Given the description of an element on the screen output the (x, y) to click on. 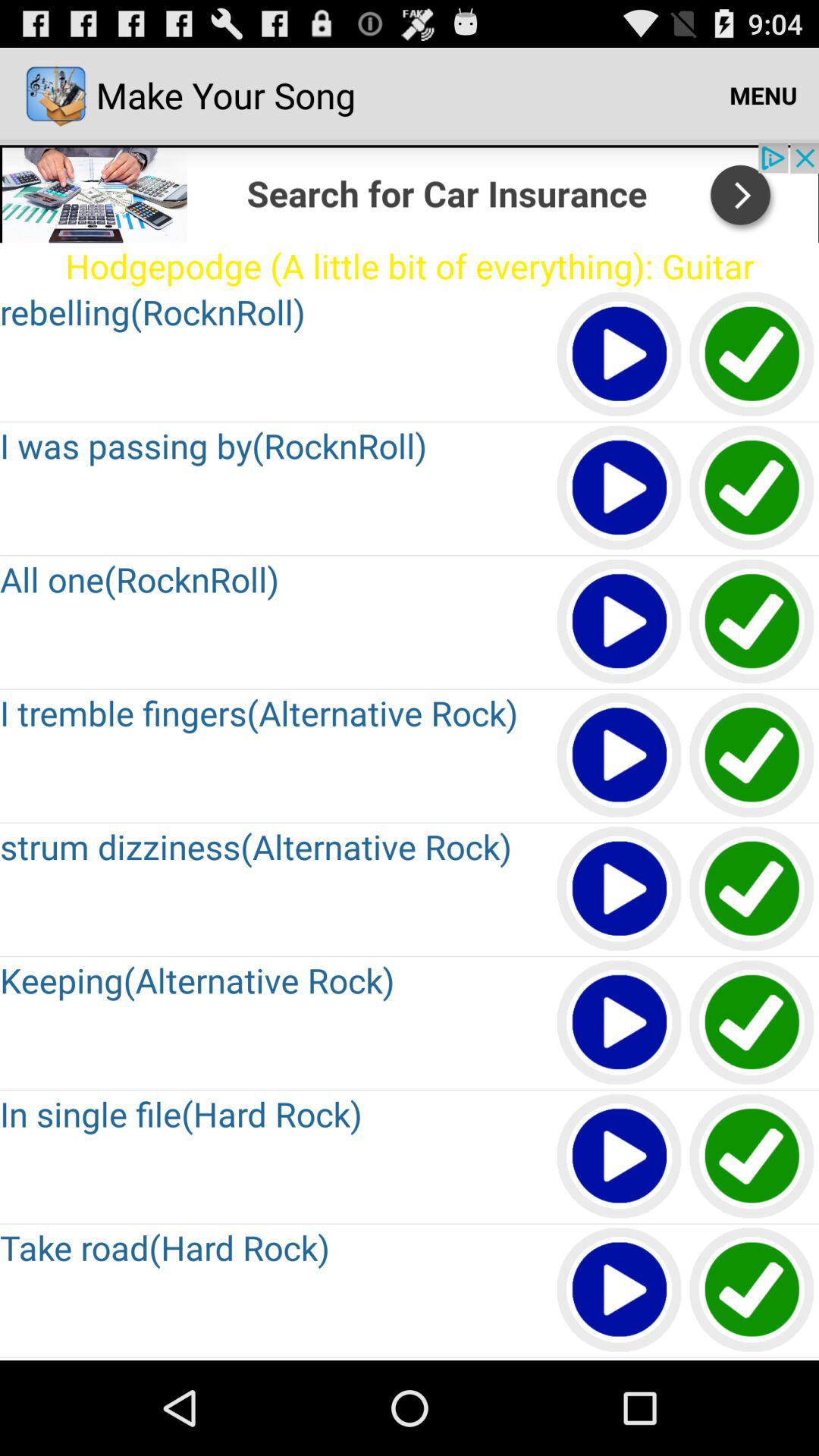
go next (409, 192)
